Given the description of an element on the screen output the (x, y) to click on. 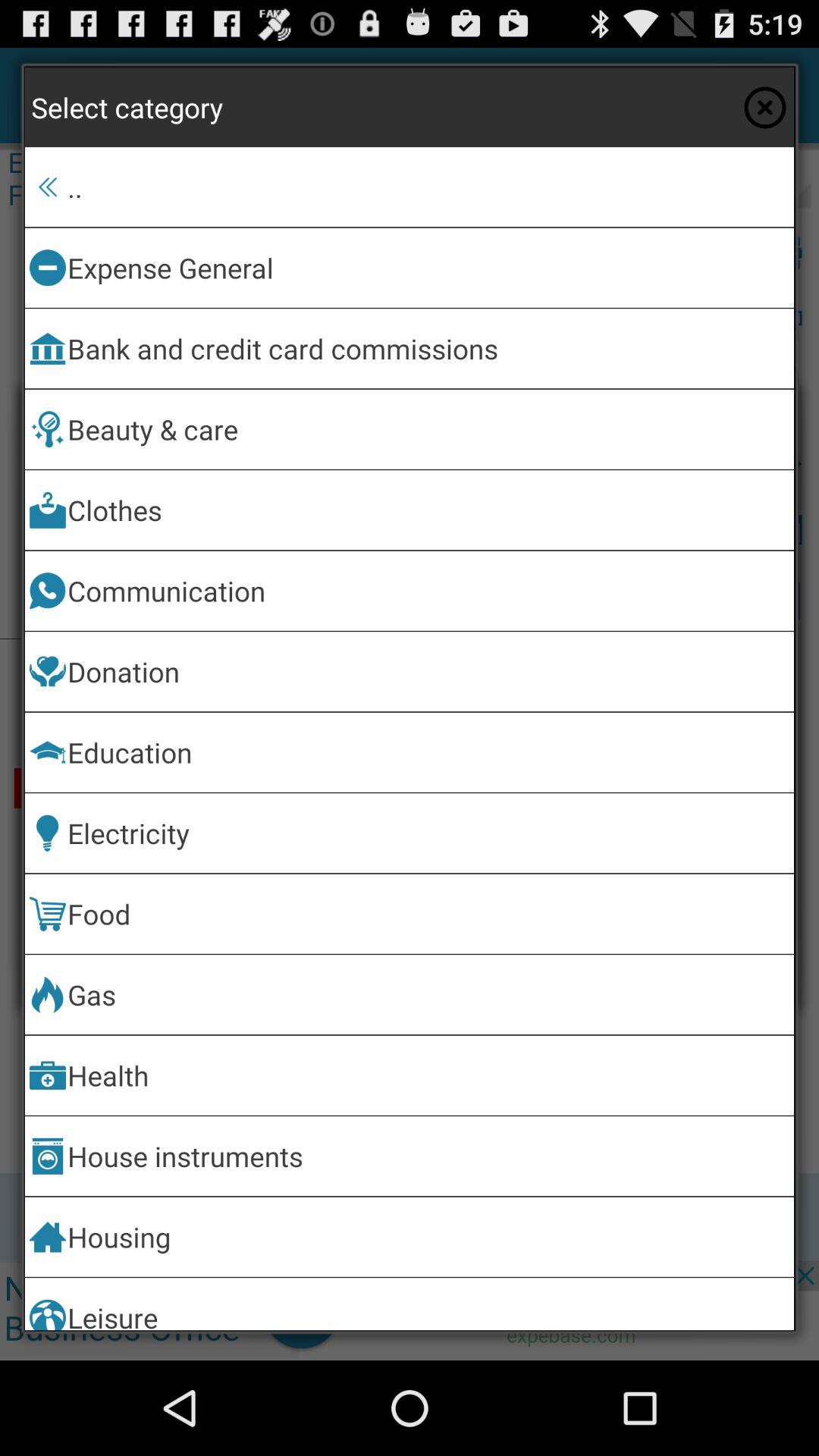
jump to expense general (427, 267)
